Given the description of an element on the screen output the (x, y) to click on. 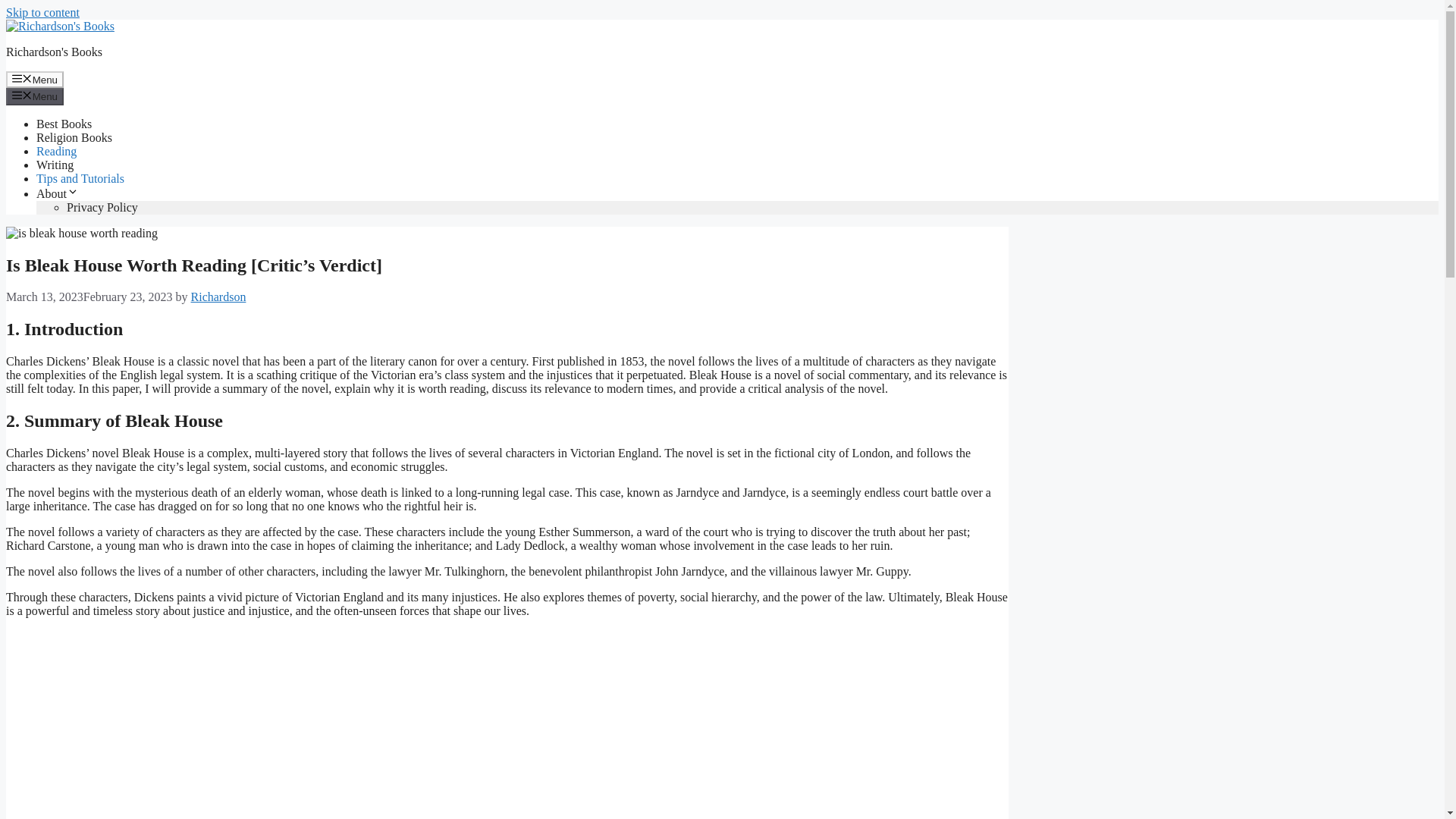
Reading (56, 151)
Privacy Policy (102, 206)
About (57, 193)
Menu (34, 79)
Skip to content (42, 11)
Richardson's Books (53, 51)
Tips and Tutorials (79, 178)
IN DEPTH BOOK REVIEW - BLEAK HOUSE by Charles Dickens (346, 724)
Richardson (218, 296)
View all posts by Richardson (218, 296)
